Given the description of an element on the screen output the (x, y) to click on. 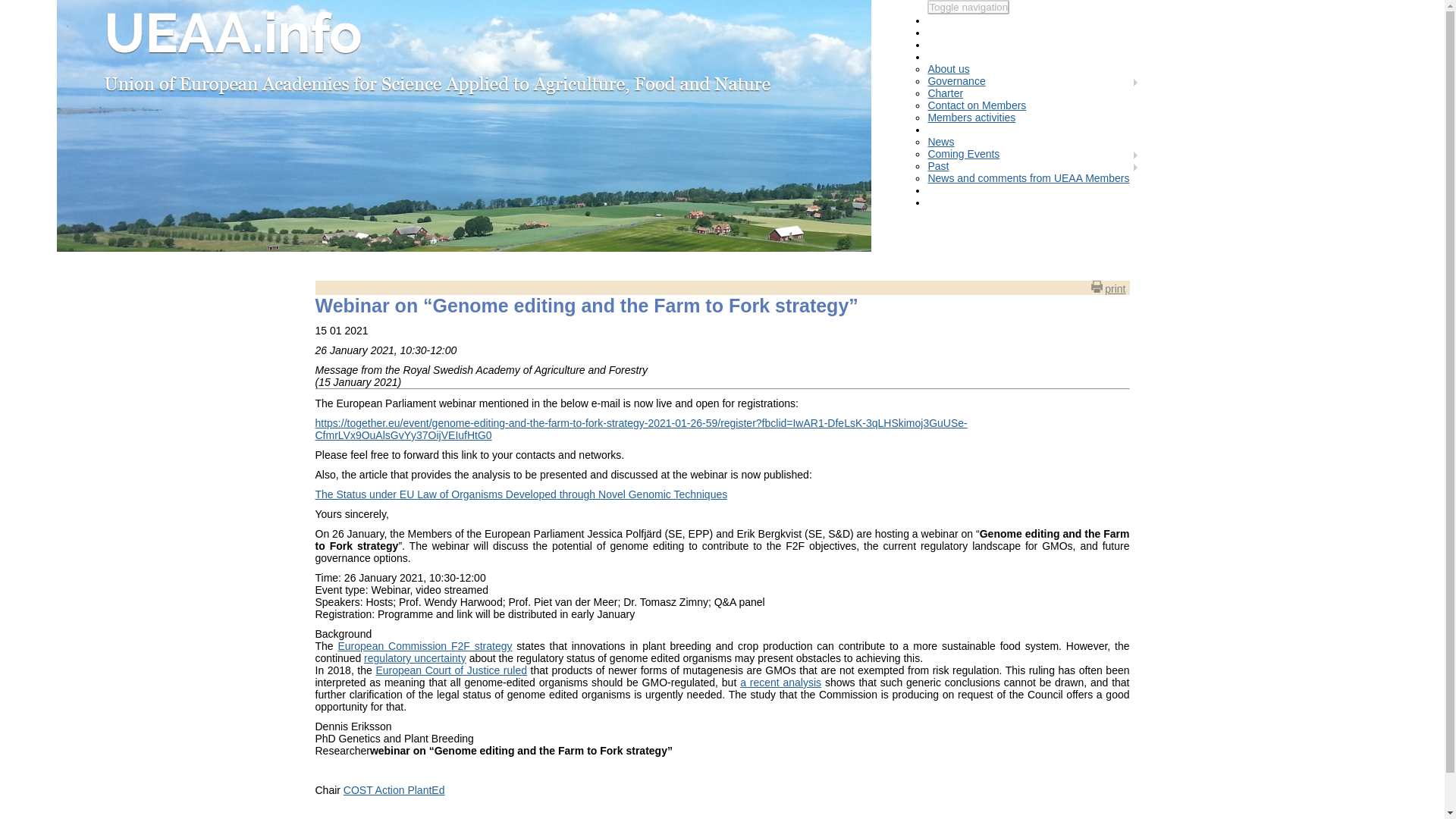
Toggle navigation (968, 7)
Activities (974, 129)
Charter (944, 92)
About us (948, 69)
Contact (971, 202)
Contact on Members (976, 105)
Contact on Members (976, 105)
Coming Events (962, 153)
a recent analysis (780, 682)
